Given the description of an element on the screen output the (x, y) to click on. 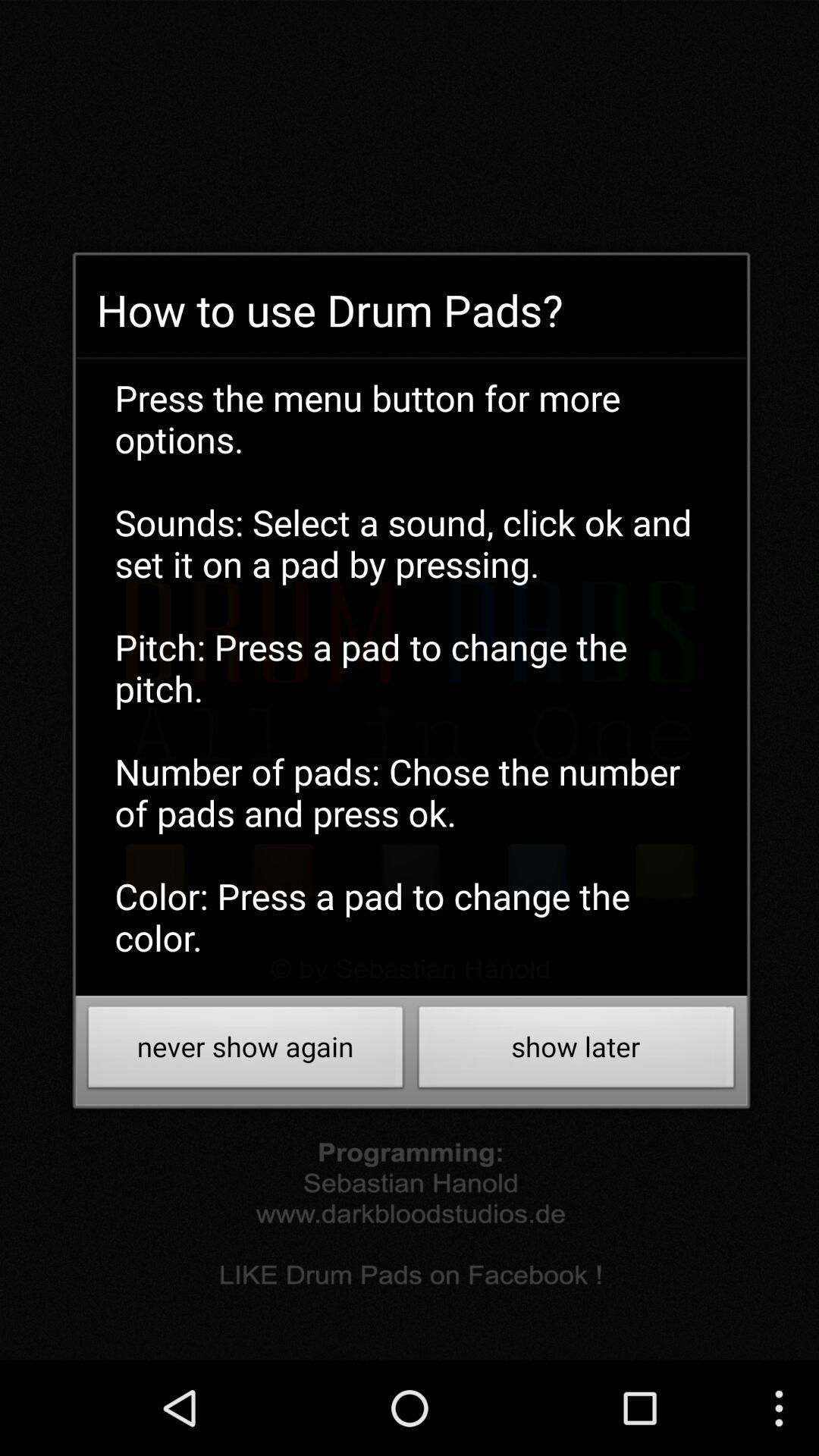
select the button next to never show again (576, 1051)
